Given the description of an element on the screen output the (x, y) to click on. 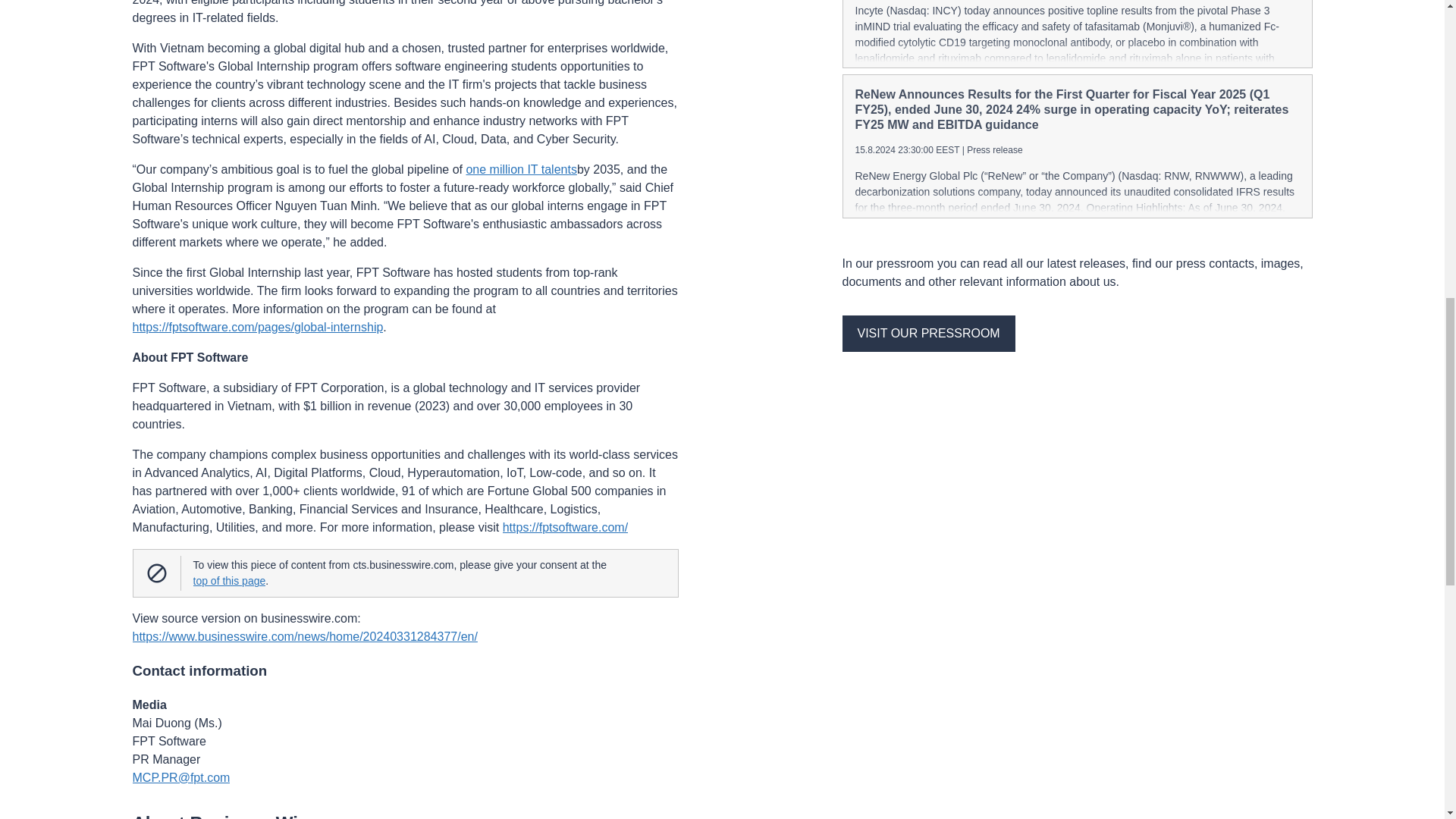
top of this page (228, 580)
one million IT talents (520, 169)
VISIT OUR PRESSROOM (927, 333)
